Given the description of an element on the screen output the (x, y) to click on. 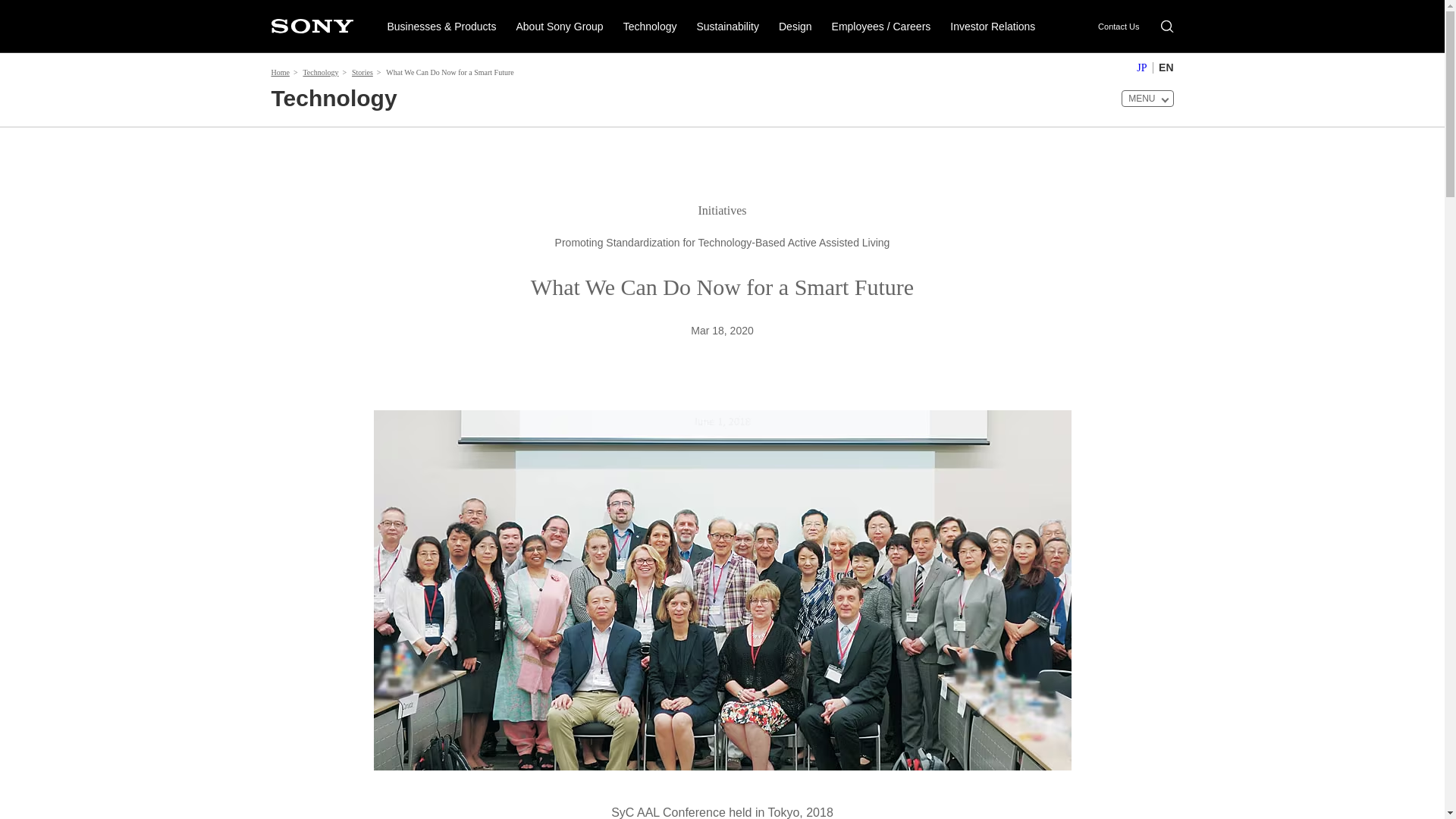
About Sony Group (558, 25)
Sustainability (726, 25)
Technology (649, 25)
open menu (1147, 98)
